Given the description of an element on the screen output the (x, y) to click on. 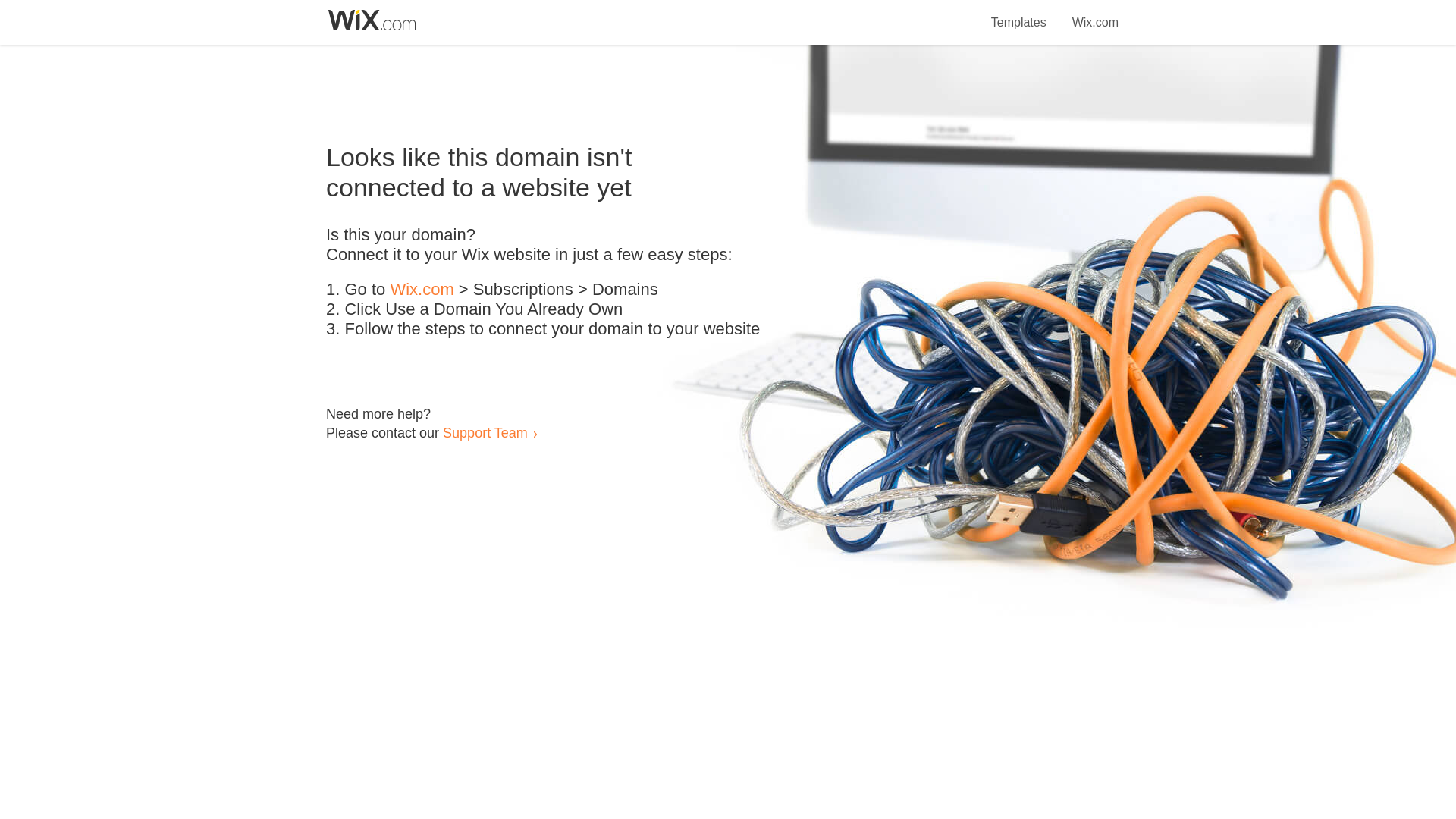
Templates (1018, 14)
Support Team (484, 432)
Wix.com (421, 289)
Wix.com (1095, 14)
